Given the description of an element on the screen output the (x, y) to click on. 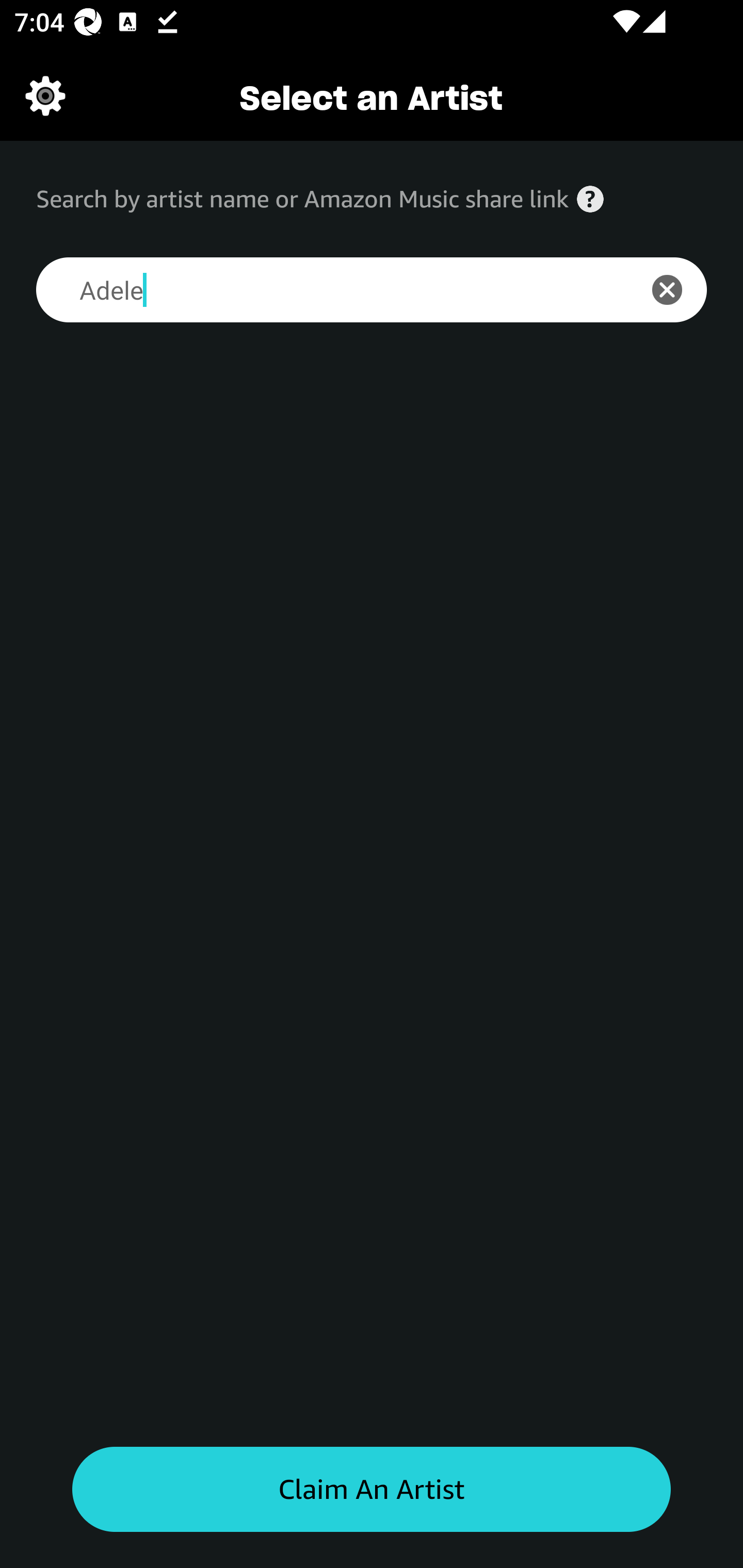
Help  icon (589, 199)
Adele Search for an artist search bar (324, 290)
 icon (677, 290)
Claim an artist button Claim An Artist (371, 1489)
